Given the description of an element on the screen output the (x, y) to click on. 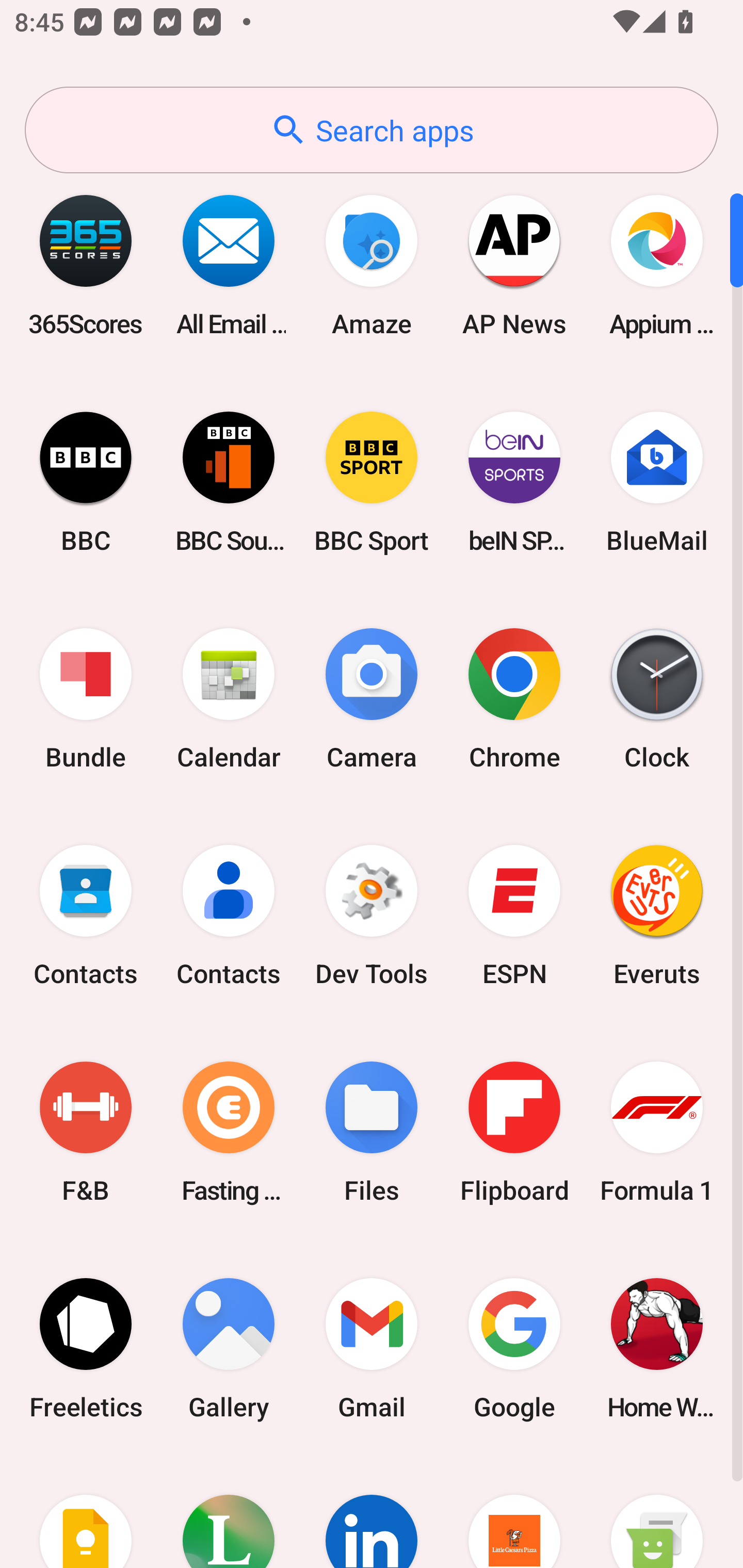
  Search apps (371, 130)
365Scores (85, 264)
All Email Connect (228, 264)
Amaze (371, 264)
AP News (514, 264)
Appium Settings (656, 264)
BBC (85, 482)
BBC Sounds (228, 482)
BBC Sport (371, 482)
beIN SPORTS (514, 482)
BlueMail (656, 482)
Bundle (85, 699)
Calendar (228, 699)
Camera (371, 699)
Chrome (514, 699)
Clock (656, 699)
Contacts (85, 915)
Contacts (228, 915)
Dev Tools (371, 915)
ESPN (514, 915)
Everuts (656, 915)
F&B (85, 1131)
Fasting Coach (228, 1131)
Files (371, 1131)
Flipboard (514, 1131)
Formula 1 (656, 1131)
Freeletics (85, 1348)
Gallery (228, 1348)
Gmail (371, 1348)
Google (514, 1348)
Home Workout (656, 1348)
Keep Notes (85, 1512)
Lifesum (228, 1512)
LinkedIn (371, 1512)
Little Caesars Pizza (514, 1512)
Messaging (656, 1512)
